Given the description of an element on the screen output the (x, y) to click on. 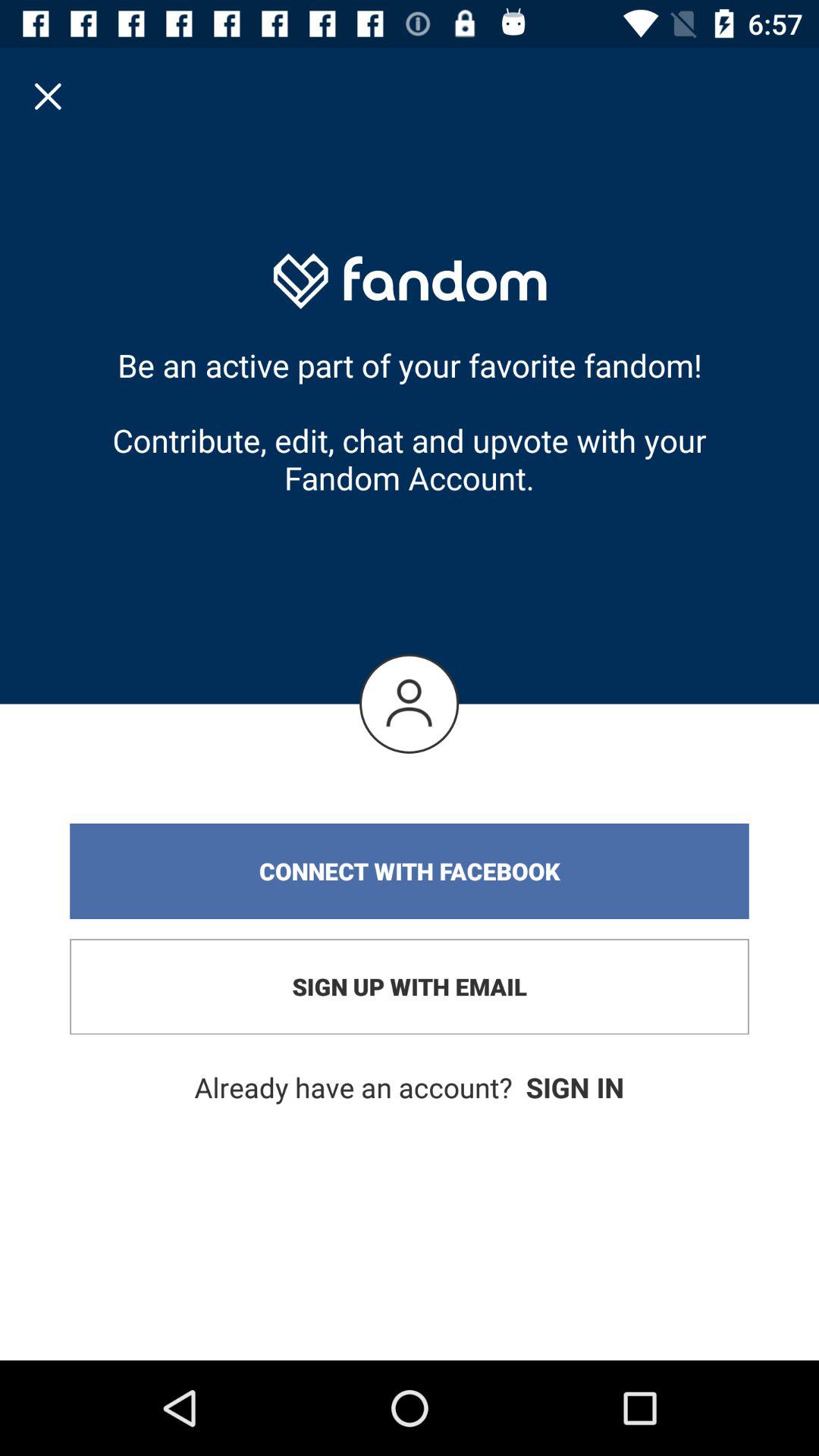
click the sign up with item (409, 986)
